Given the description of an element on the screen output the (x, y) to click on. 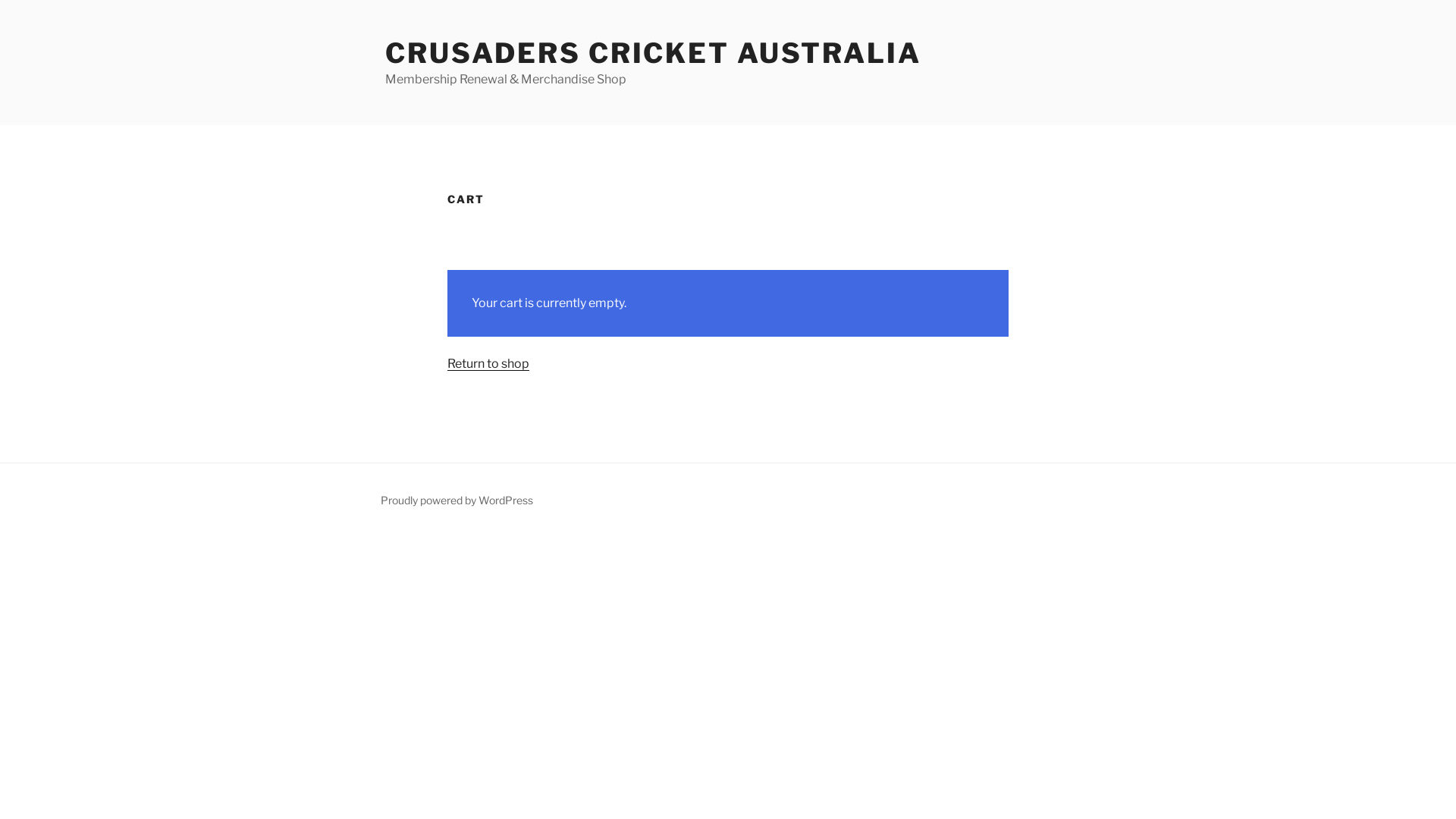
Proudly powered by WordPress Element type: text (456, 499)
Return to shop Element type: text (488, 363)
CRUSADERS CRICKET AUSTRALIA Element type: text (653, 52)
